Given the description of an element on the screen output the (x, y) to click on. 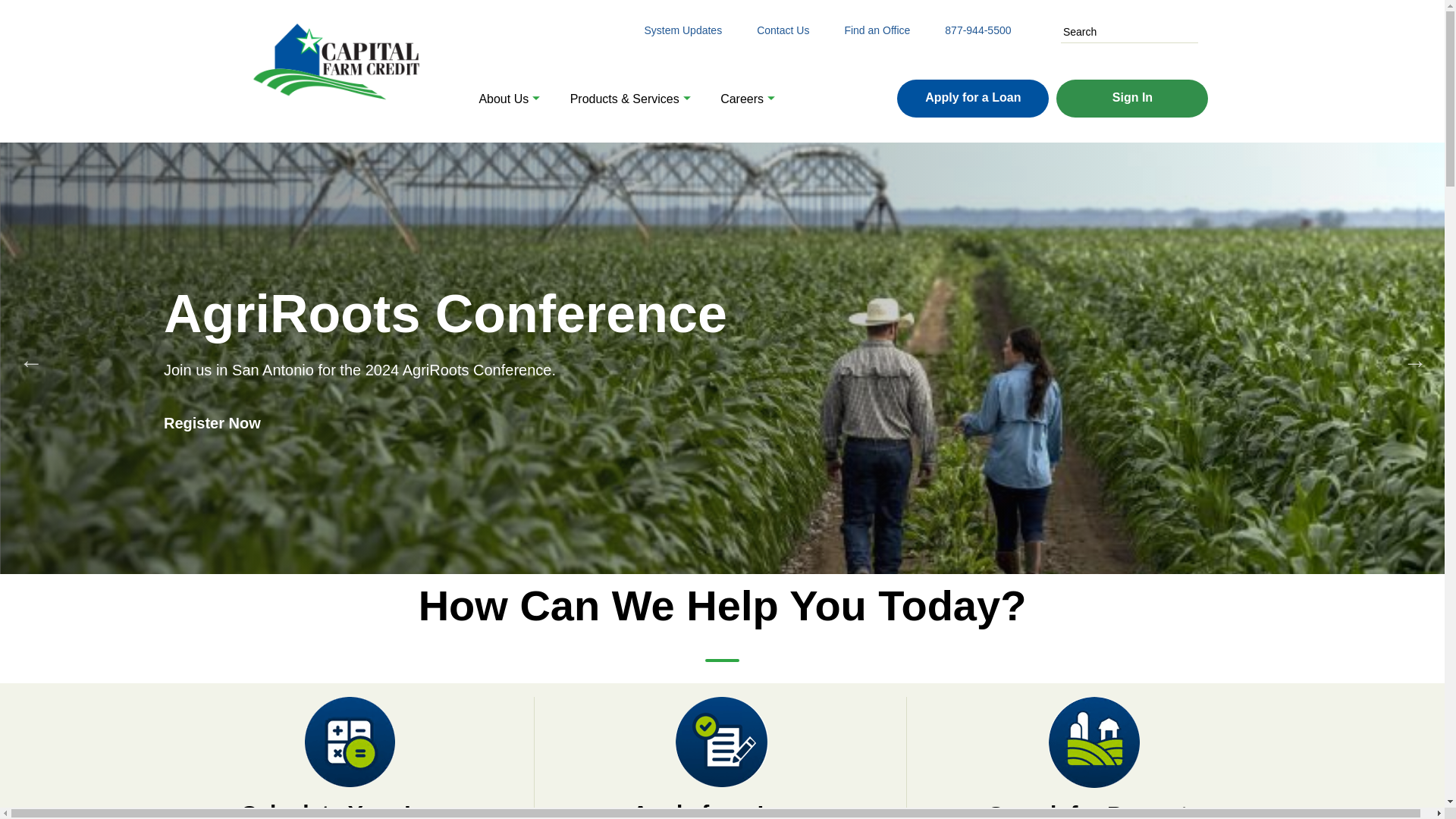
About Us (503, 95)
Search input (1129, 31)
Contact Us (783, 30)
System Updates (682, 30)
Find an Office (877, 30)
877-944-5500 (977, 30)
